Given the description of an element on the screen output the (x, y) to click on. 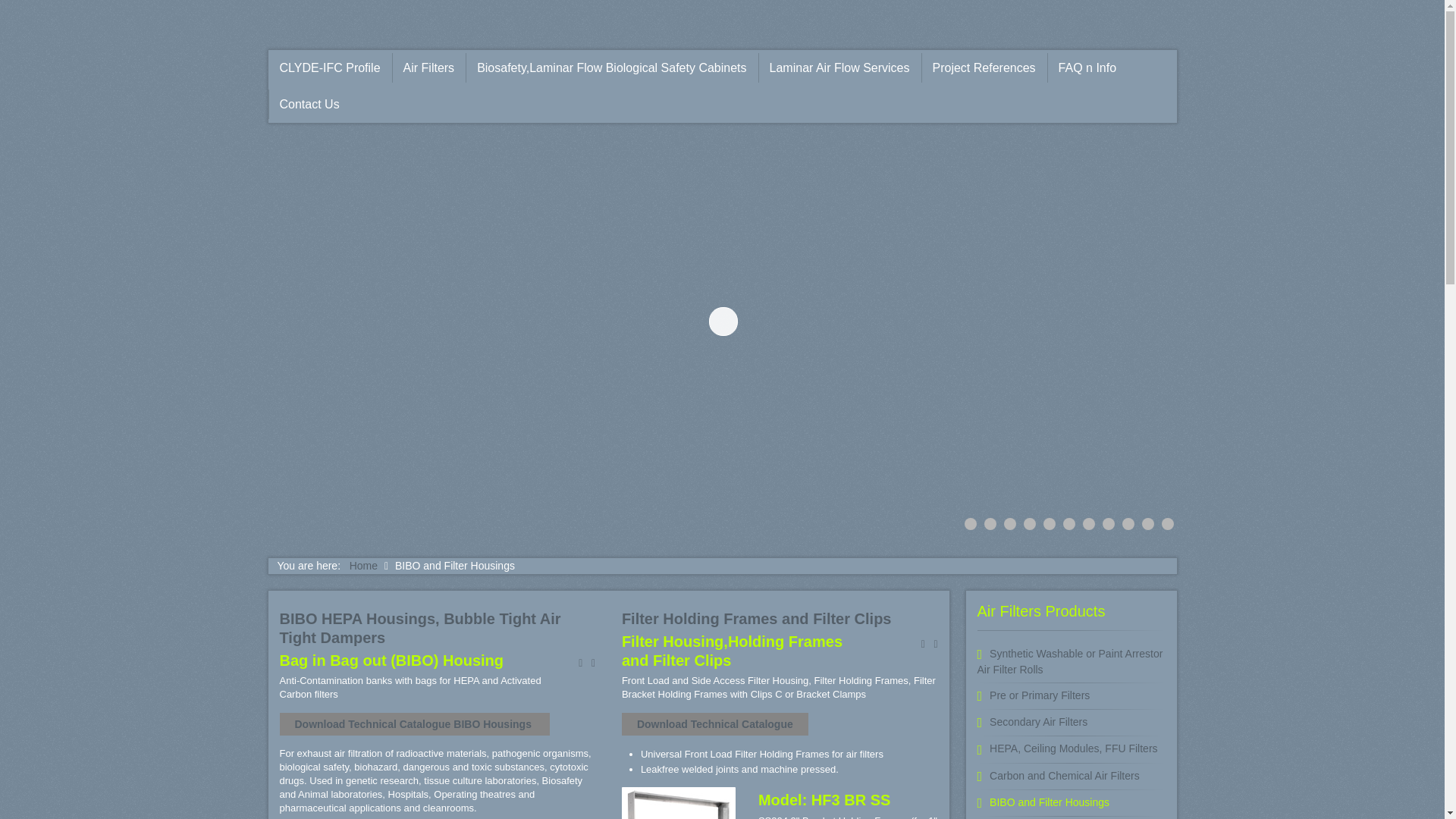
Air Filters (428, 67)
Download Technical Catalogue (714, 723)
Contact Us (309, 103)
Project References (984, 67)
CLYDE-IFC Profile (329, 67)
Secondary Air Filters (1070, 726)
Synthetic Washable or Paint Arrestor Air Filter Rolls (1070, 665)
BIBO HEPA Housings, Bubble Tight Air Tight Dampers (419, 627)
Download Technical Catalogue BIBO Housings  (413, 723)
BIBO and Filter Housings (1070, 806)
